Given the description of an element on the screen output the (x, y) to click on. 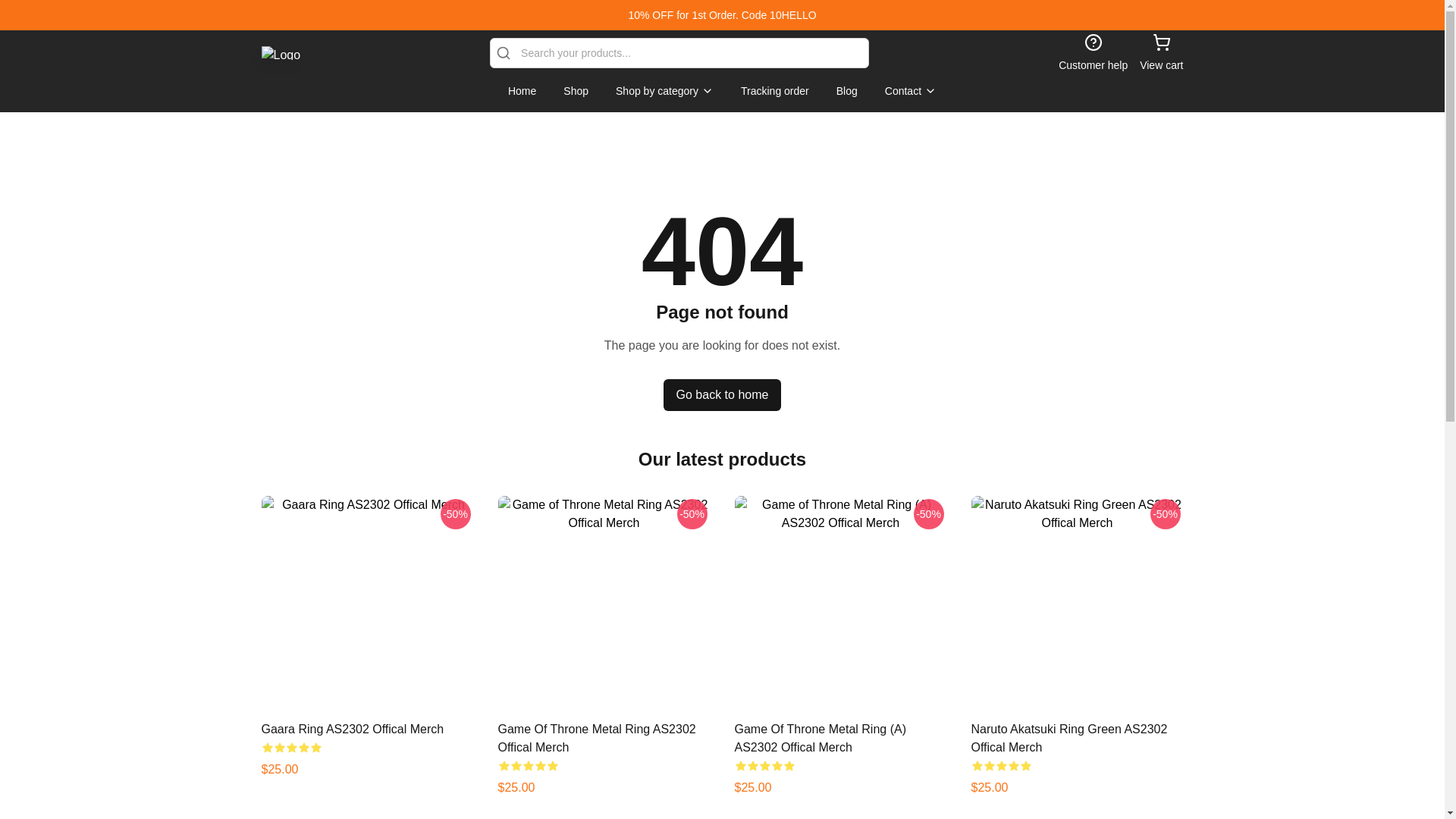
Home (522, 91)
customer help (1092, 52)
view cart (1161, 52)
Tracking order (775, 91)
Game Of Throne Metal Ring AS2302 Offical Merch (596, 737)
View cart (1161, 52)
Contact (910, 91)
Blog (846, 91)
Gaara Ring AS2302 Offical Merch (352, 728)
Shop (575, 91)
